Given the description of an element on the screen output the (x, y) to click on. 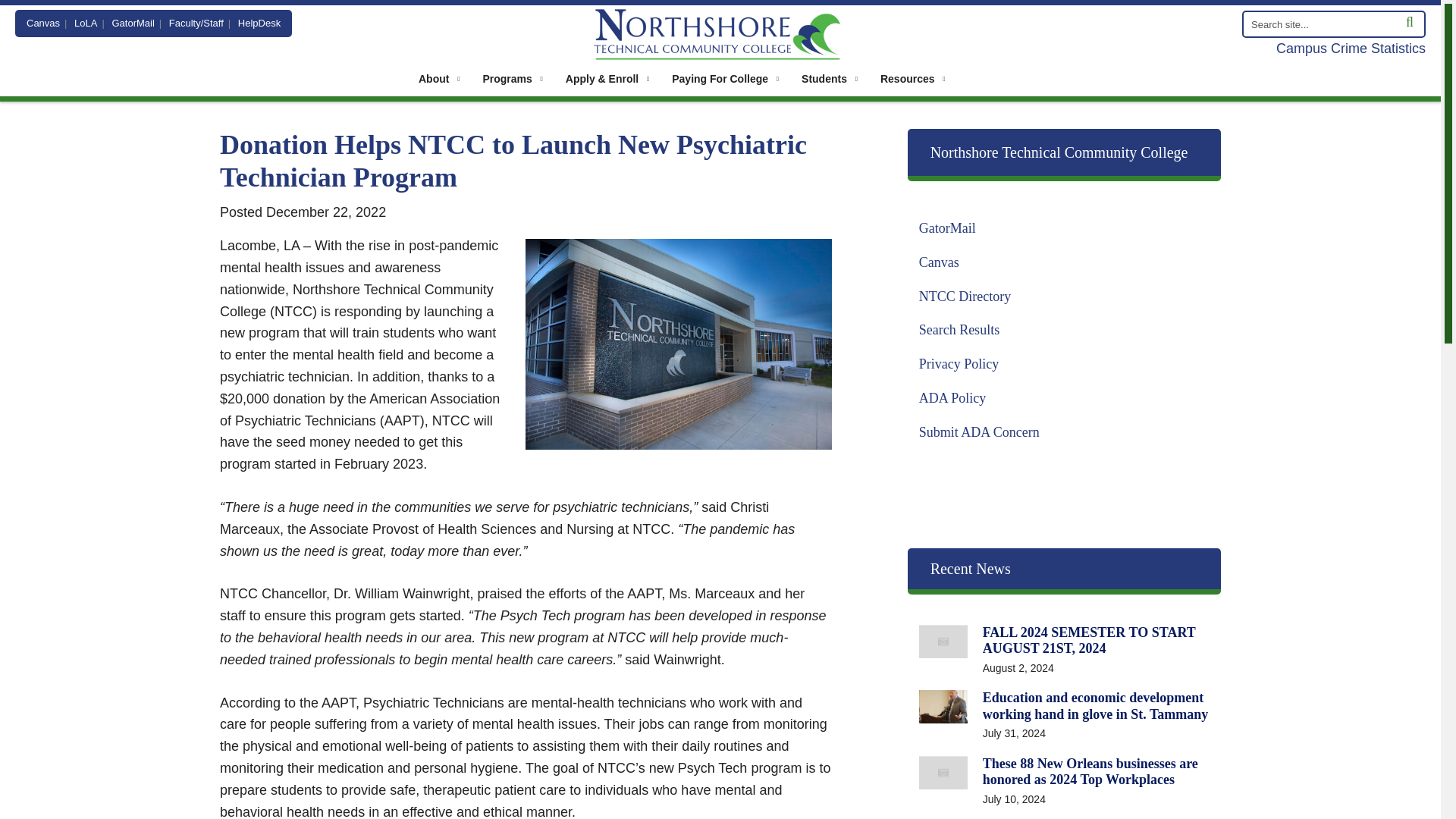
Search (1333, 23)
Programs (511, 78)
About (438, 78)
